Given the description of an element on the screen output the (x, y) to click on. 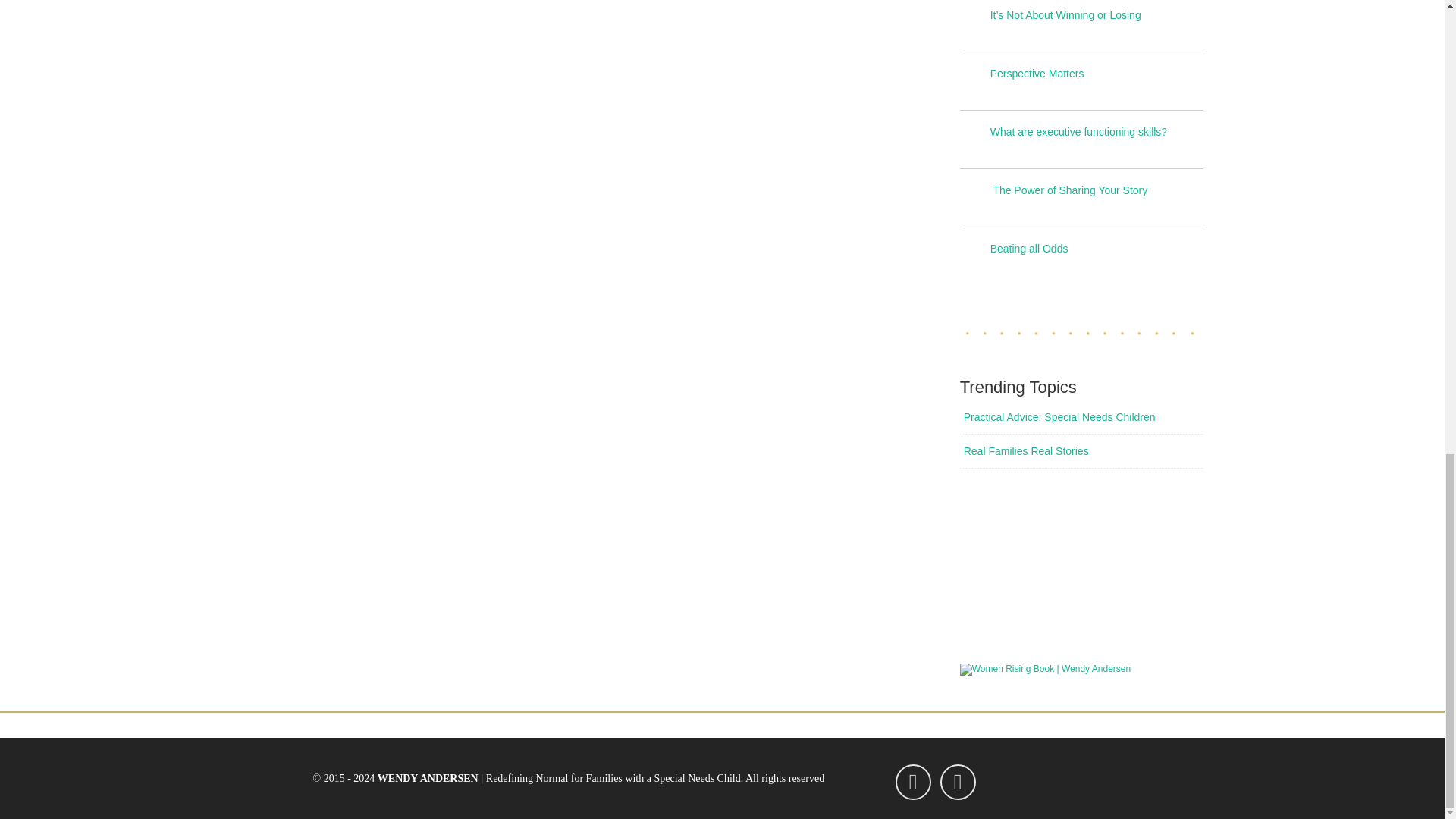
Perspective Matters (1097, 72)
Practical Advice: Special Needs Children (1085, 417)
Real Families Real Stories (1085, 450)
 The Power of Sharing Your Story (1097, 189)
What are executive functioning skills? (1097, 131)
Beating all Odds (1097, 248)
